Given the description of an element on the screen output the (x, y) to click on. 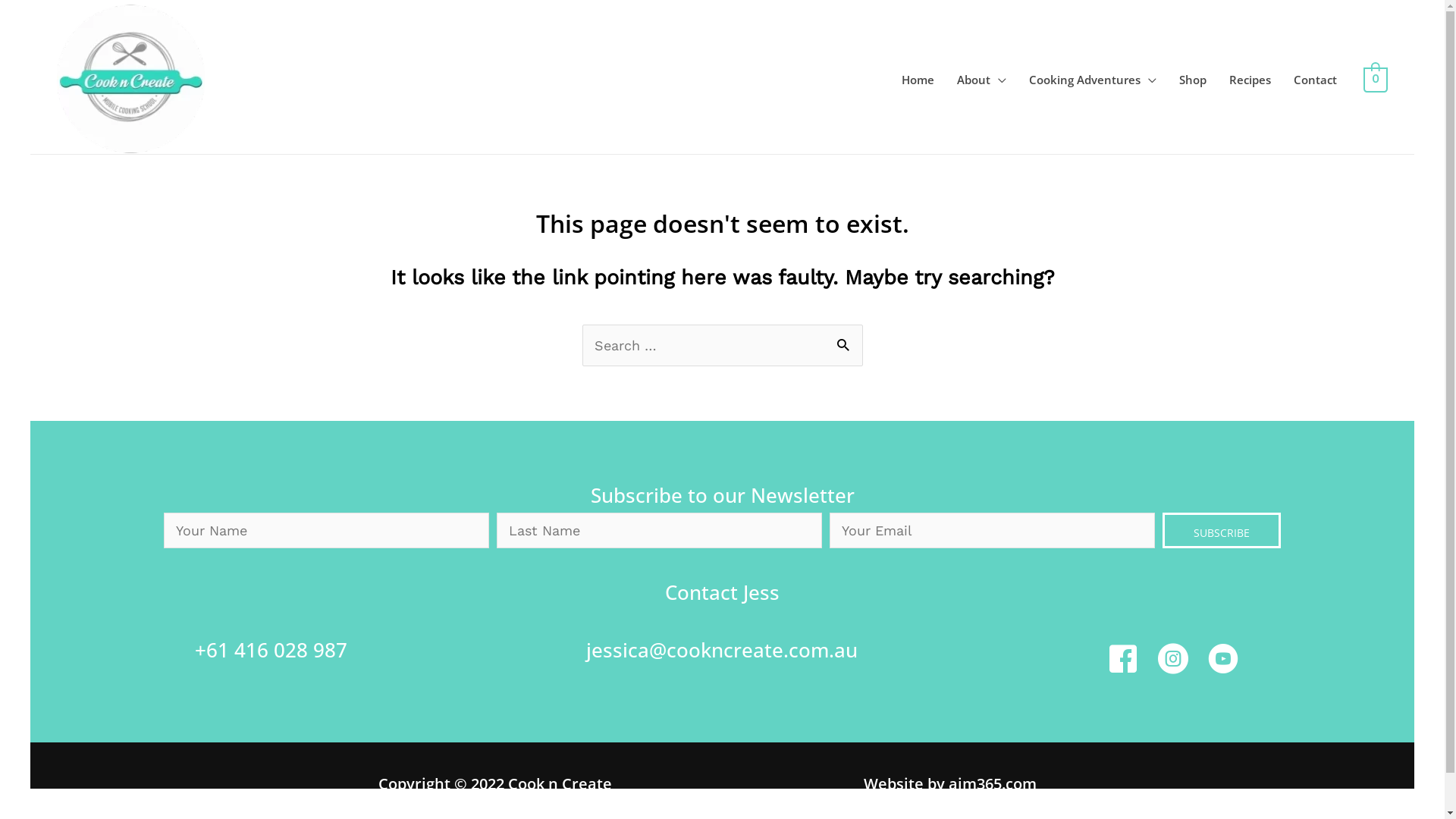
jessica@cookncreate.com.au Element type: text (721, 649)
Home Element type: text (917, 79)
SUBSCRIBE Element type: text (1221, 530)
Recipes Element type: text (1249, 79)
Skip to content Element type: text (29, 3)
Cooking Adventures Element type: text (1092, 79)
Search Element type: text (845, 339)
0 Element type: text (1375, 78)
About Element type: text (980, 79)
Shop Element type: text (1192, 79)
Contact Element type: text (1314, 79)
